Given the description of an element on the screen output the (x, y) to click on. 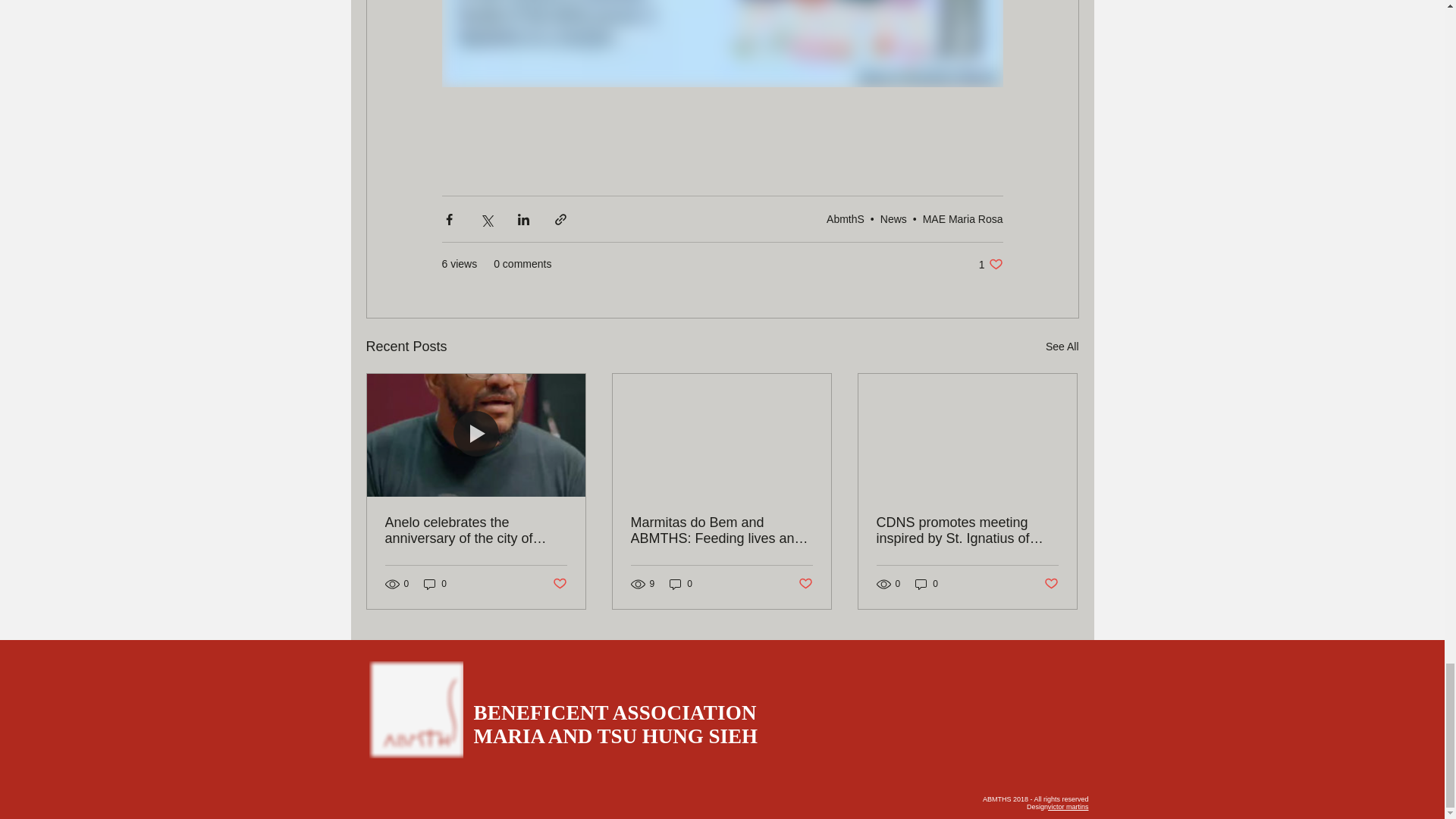
Post not marked as liked (1050, 584)
AbmthS (845, 218)
0 (681, 584)
0 (926, 584)
News (893, 218)
Post not marked as liked (804, 584)
victor martins (1068, 806)
Post not marked as liked (558, 584)
Marmitas do Bem and ABMTHS: Feeding lives and hope (721, 531)
0 (435, 584)
MAE Maria Rosa (963, 218)
Anelo celebrates the anniversary of the city of Campinas (476, 531)
See All (990, 264)
